Given the description of an element on the screen output the (x, y) to click on. 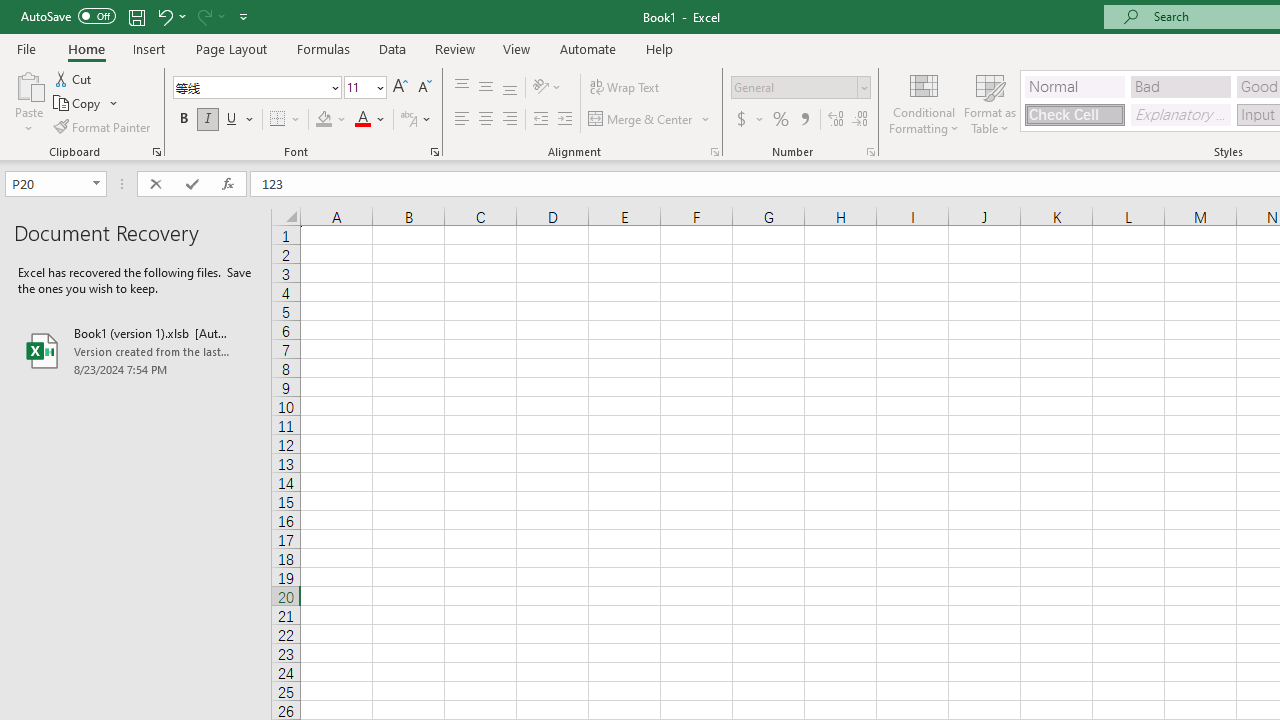
Top Align (461, 87)
Copy (85, 103)
Paste (28, 84)
Merge & Center (649, 119)
Accounting Number Format (749, 119)
Font Color (370, 119)
Decrease Indent (540, 119)
Format Cell Font (434, 151)
Increase Font Size (399, 87)
Comma Style (804, 119)
AutoSave (68, 16)
Bad (1180, 86)
Bottom Align (509, 87)
